Given the description of an element on the screen output the (x, y) to click on. 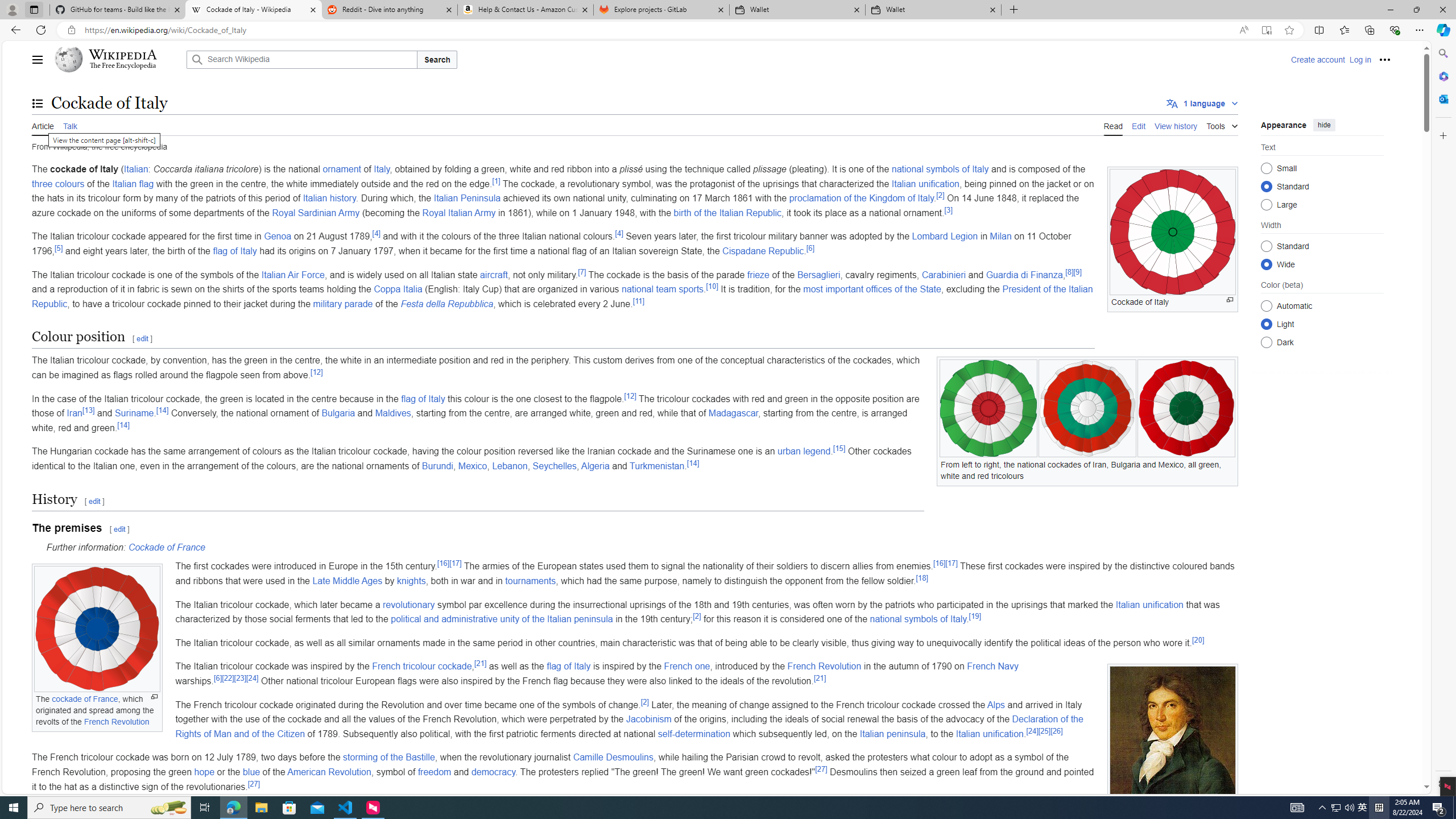
[13] (87, 409)
[19] (974, 615)
[4] (618, 233)
French one (686, 666)
knights (411, 580)
Italian Air Force (292, 274)
Guardia di Finanza (1023, 274)
storming of the Bastille (388, 757)
Lebanon (509, 466)
Italian (135, 169)
